Given the description of an element on the screen output the (x, y) to click on. 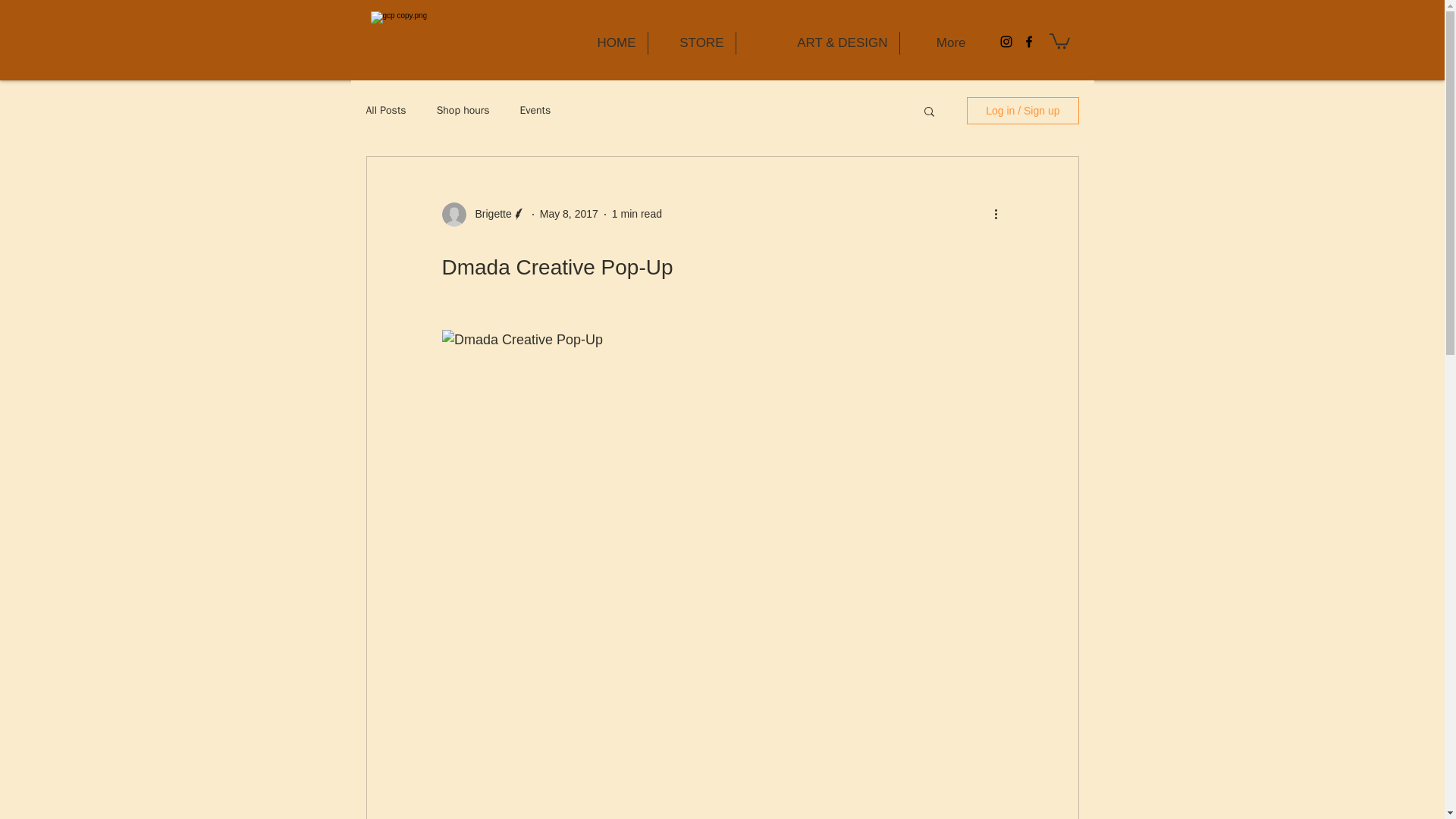
Shop hours (462, 110)
Events (535, 110)
All Posts (385, 110)
Brigette (488, 213)
STORE (691, 42)
1 min read (636, 214)
HOME (607, 42)
May 8, 2017 (569, 214)
